Given the description of an element on the screen output the (x, y) to click on. 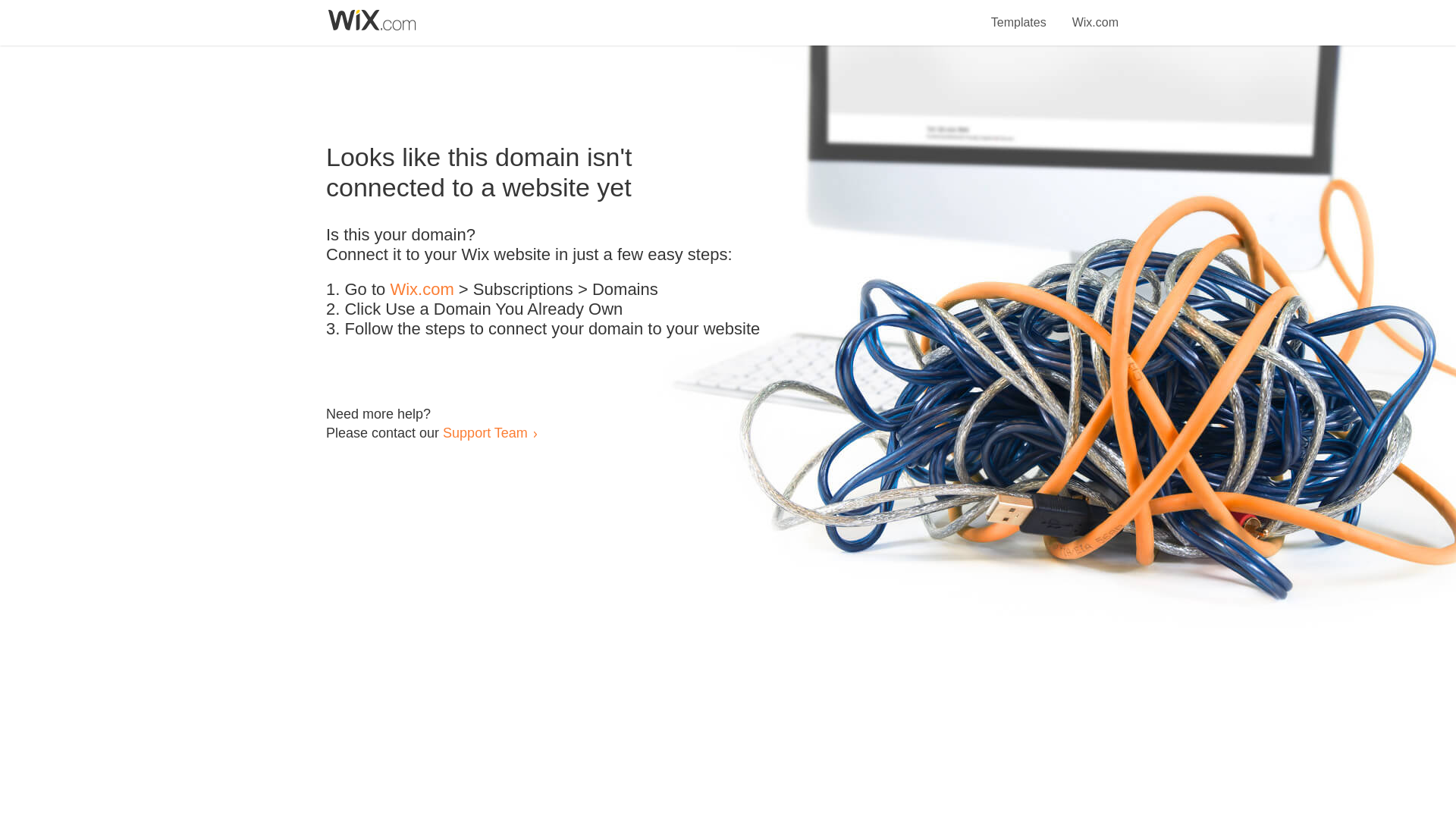
Support Team (484, 432)
Wix.com (421, 289)
Templates (1018, 14)
Wix.com (1095, 14)
